Given the description of an element on the screen output the (x, y) to click on. 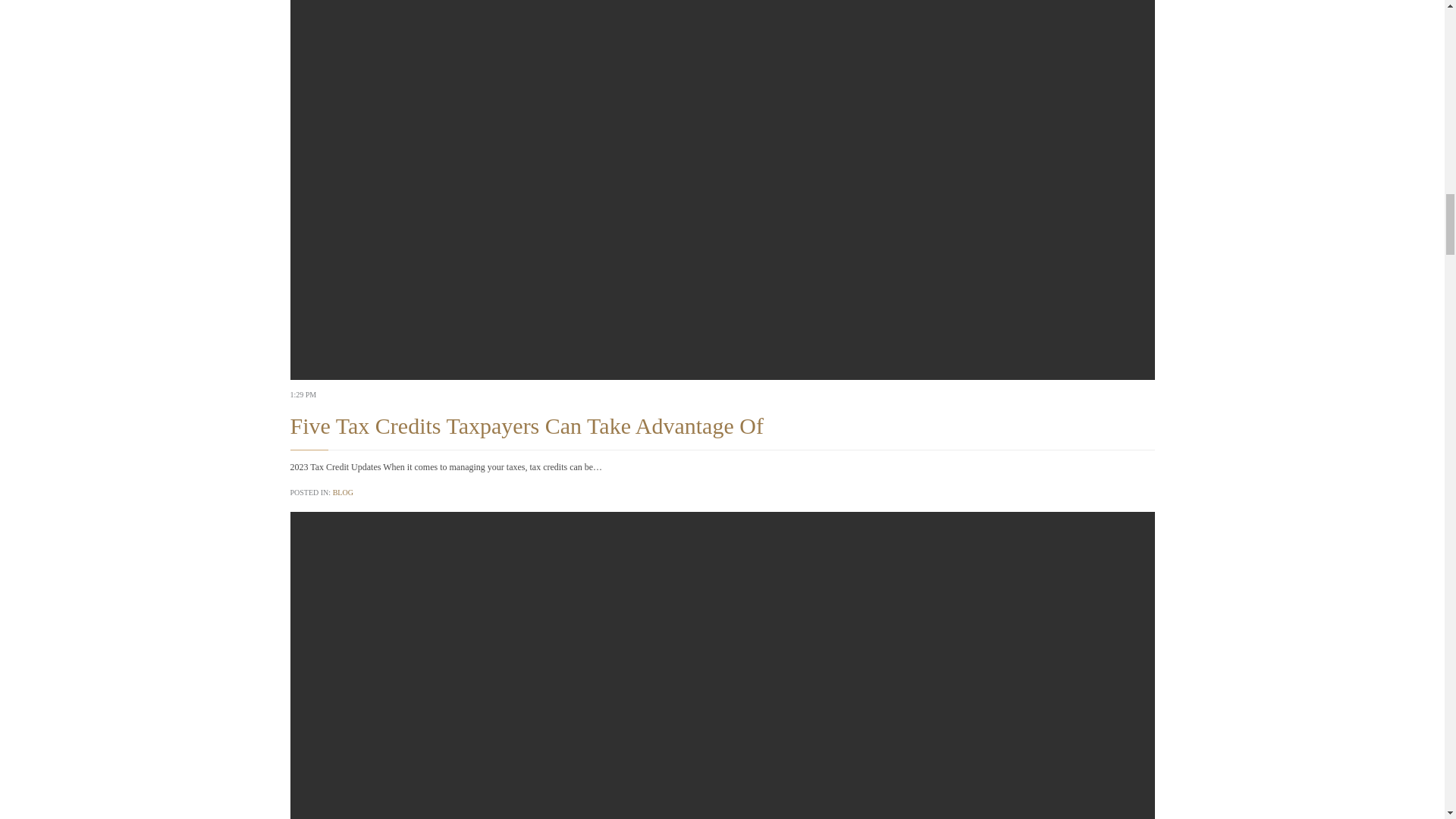
Five Tax Credits Taxpayers Can Take Advantage Of (525, 425)
BLOG (343, 492)
Five Tax Credits Taxpayers Can Take Advantage Of (525, 425)
